Given the description of an element on the screen output the (x, y) to click on. 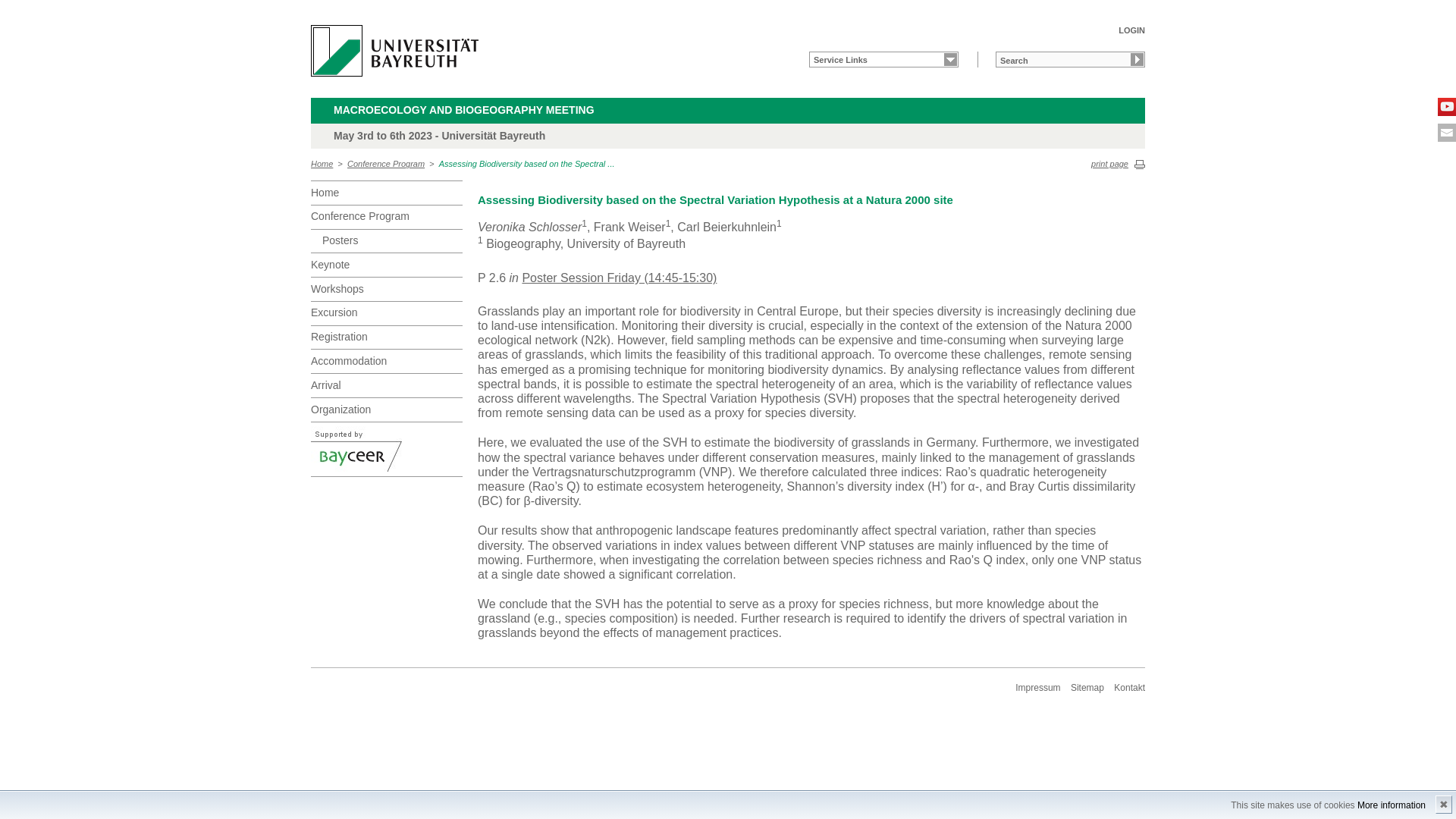
Home (322, 163)
Home (387, 192)
Posters (392, 241)
Assessing Biodiversity based on the Spectral ... (526, 163)
Keynote (387, 264)
Conference Program (386, 163)
MACROECOLOGY AND BIOGEOGRAPHY MEETING (473, 110)
Conference Program (387, 216)
Workshops (387, 288)
